Given the description of an element on the screen output the (x, y) to click on. 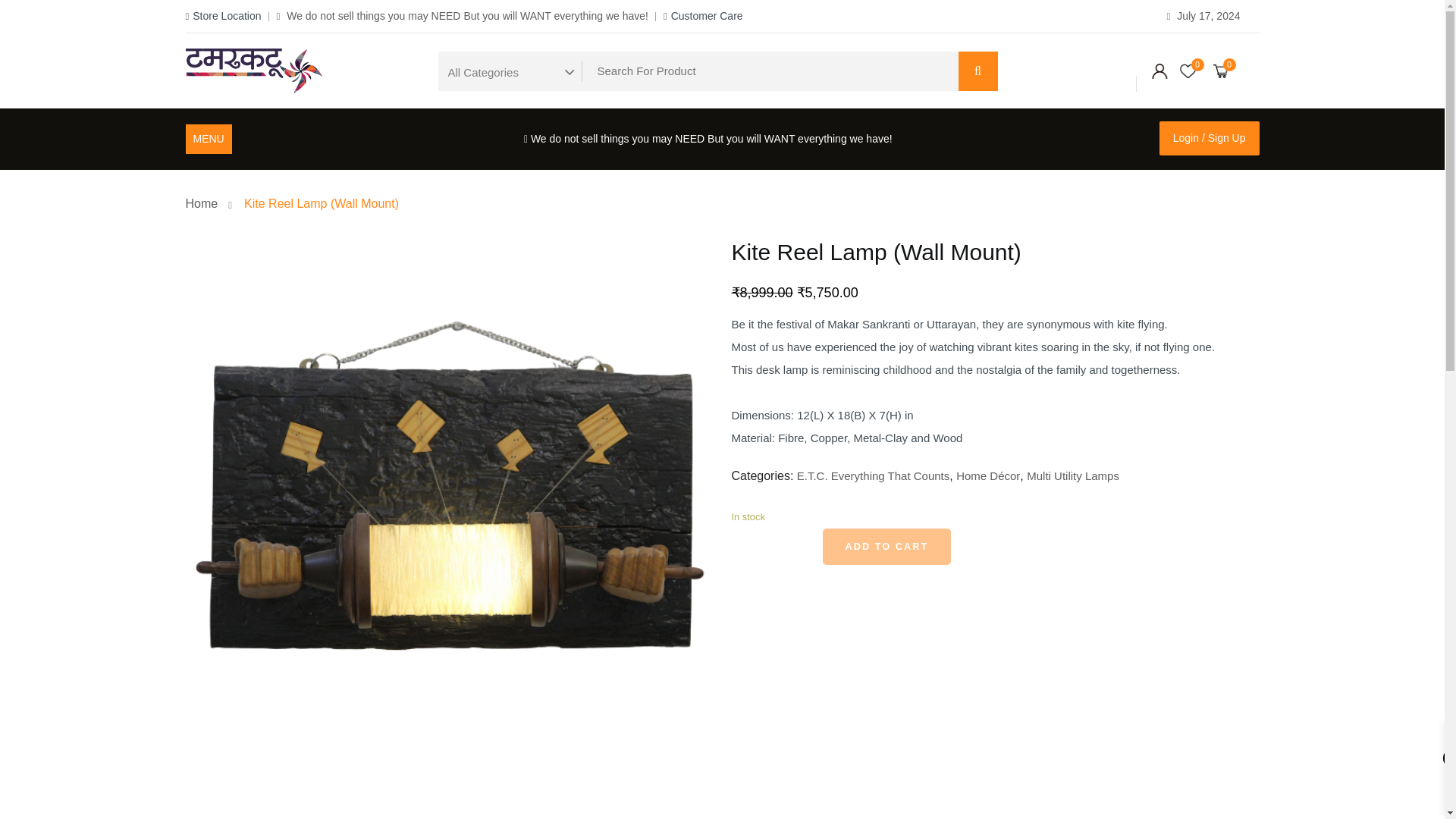
0 (1187, 70)
0 (1220, 70)
Customer Care (702, 15)
Store Location (222, 15)
MENU (208, 138)
